Given the description of an element on the screen output the (x, y) to click on. 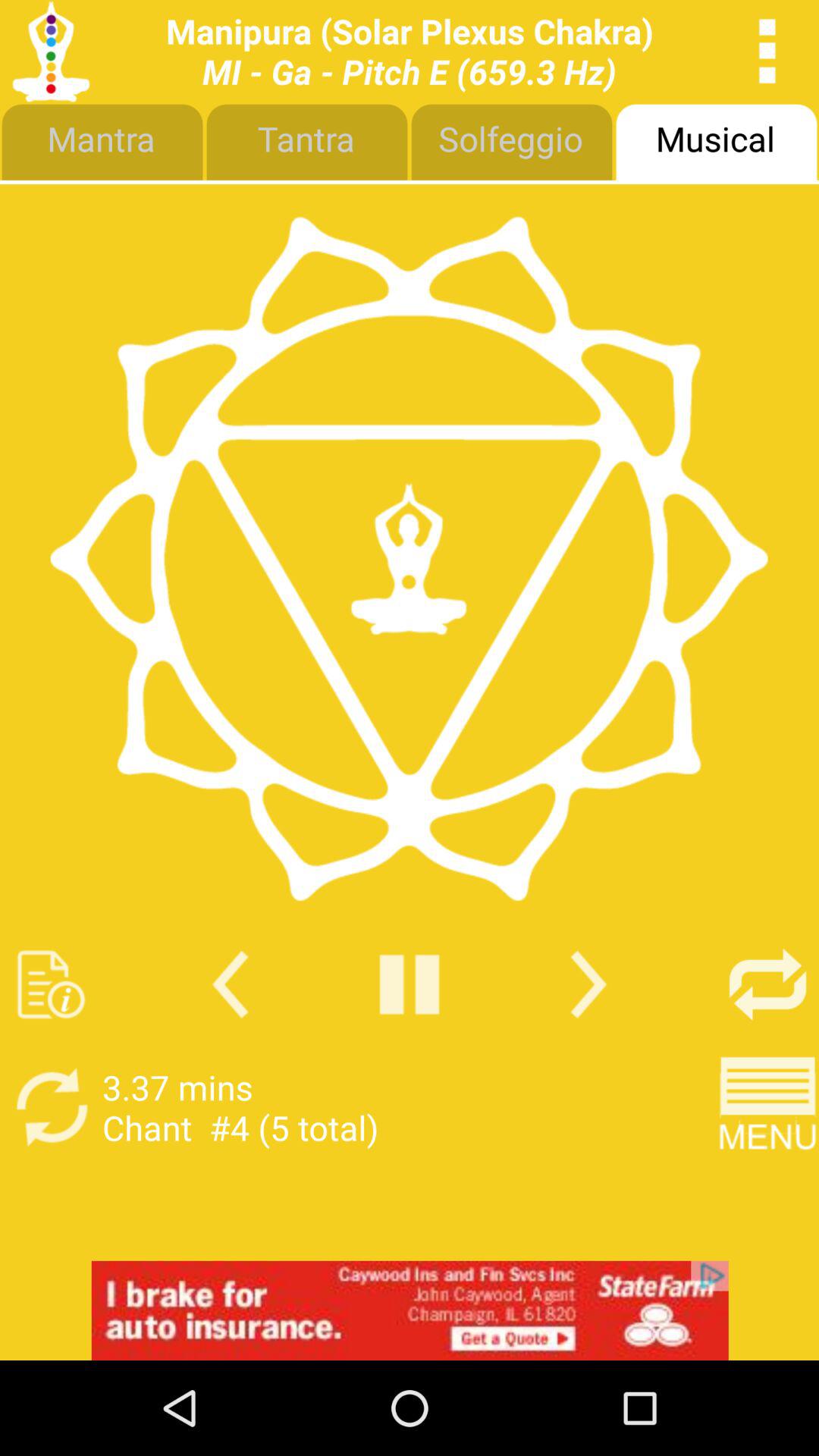
open options (767, 51)
